Given the description of an element on the screen output the (x, y) to click on. 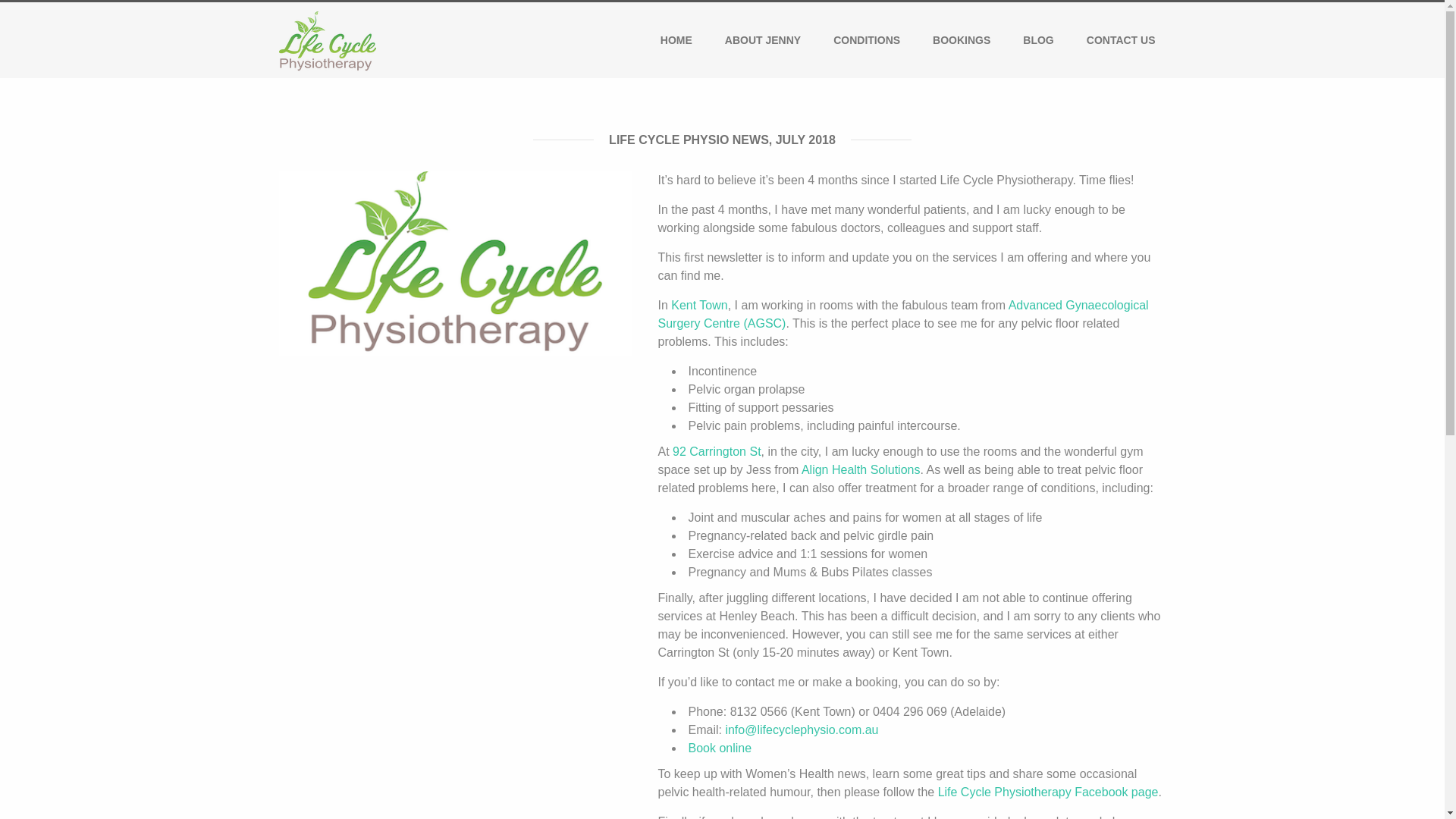
CONDITIONS (866, 39)
92 Carrington St (716, 451)
BOOKINGS (961, 39)
CONTACT US (1120, 39)
Align Health Solutions (861, 469)
ABOUT JENNY (762, 39)
Book online (720, 748)
Kent Town (698, 305)
